Given the description of an element on the screen output the (x, y) to click on. 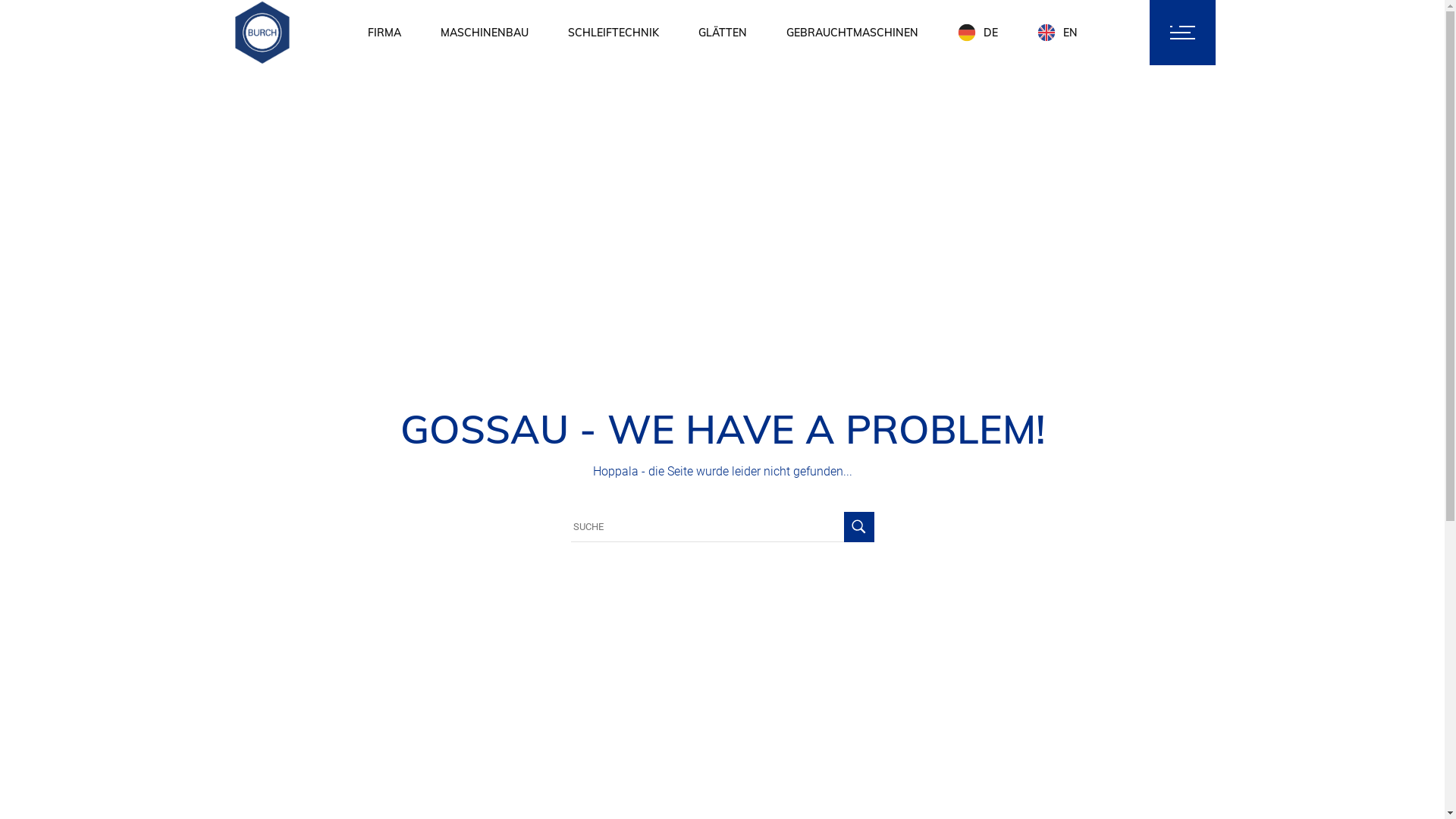
MASCHINENBAU Element type: text (483, 32)
DE Element type: text (977, 32)
SCHLEIFTECHNIK Element type: text (612, 32)
search Element type: text (1118, 32)
GEBRAUCHTMASCHINEN Element type: text (851, 32)
FIRMA Element type: text (383, 32)
EN Element type: text (1057, 32)
